Given the description of an element on the screen output the (x, y) to click on. 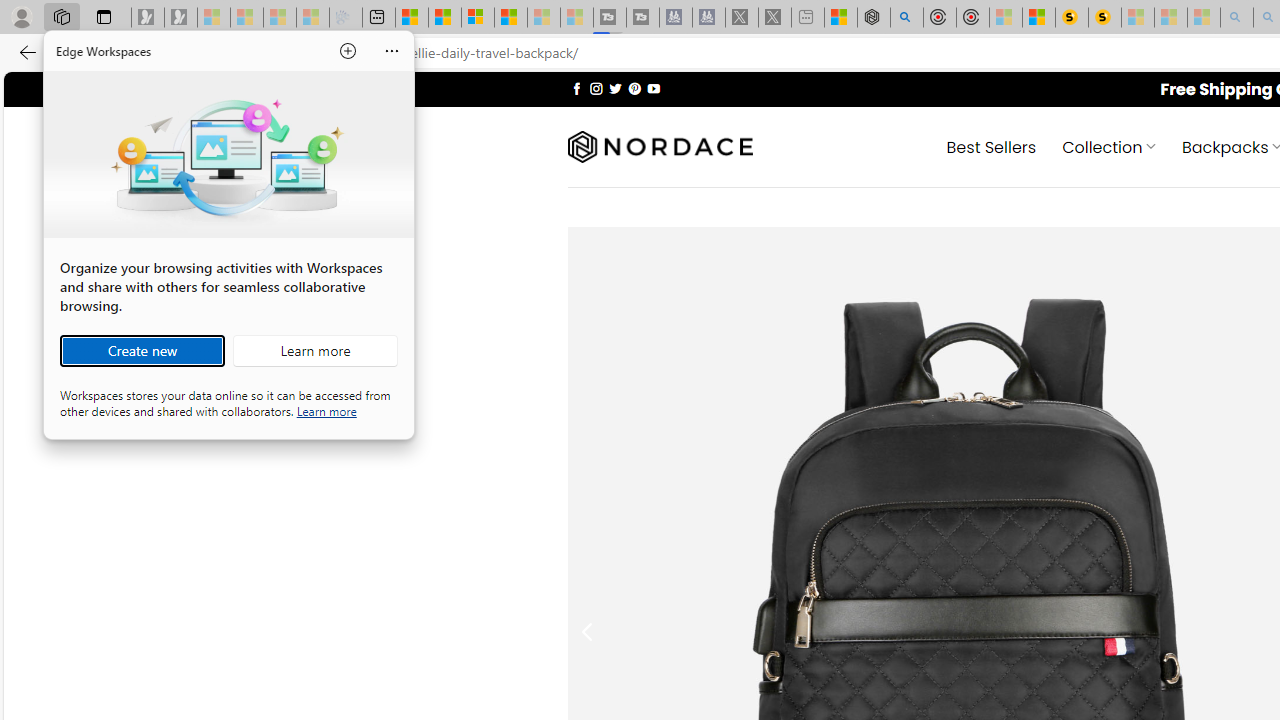
amazon - Search - Sleeping (1237, 17)
Create new workspace (142, 350)
Follow on Facebook (576, 88)
Follow on YouTube (653, 88)
Learn more about Workspaces (315, 350)
Follow on Twitter (615, 88)
